Given the description of an element on the screen output the (x, y) to click on. 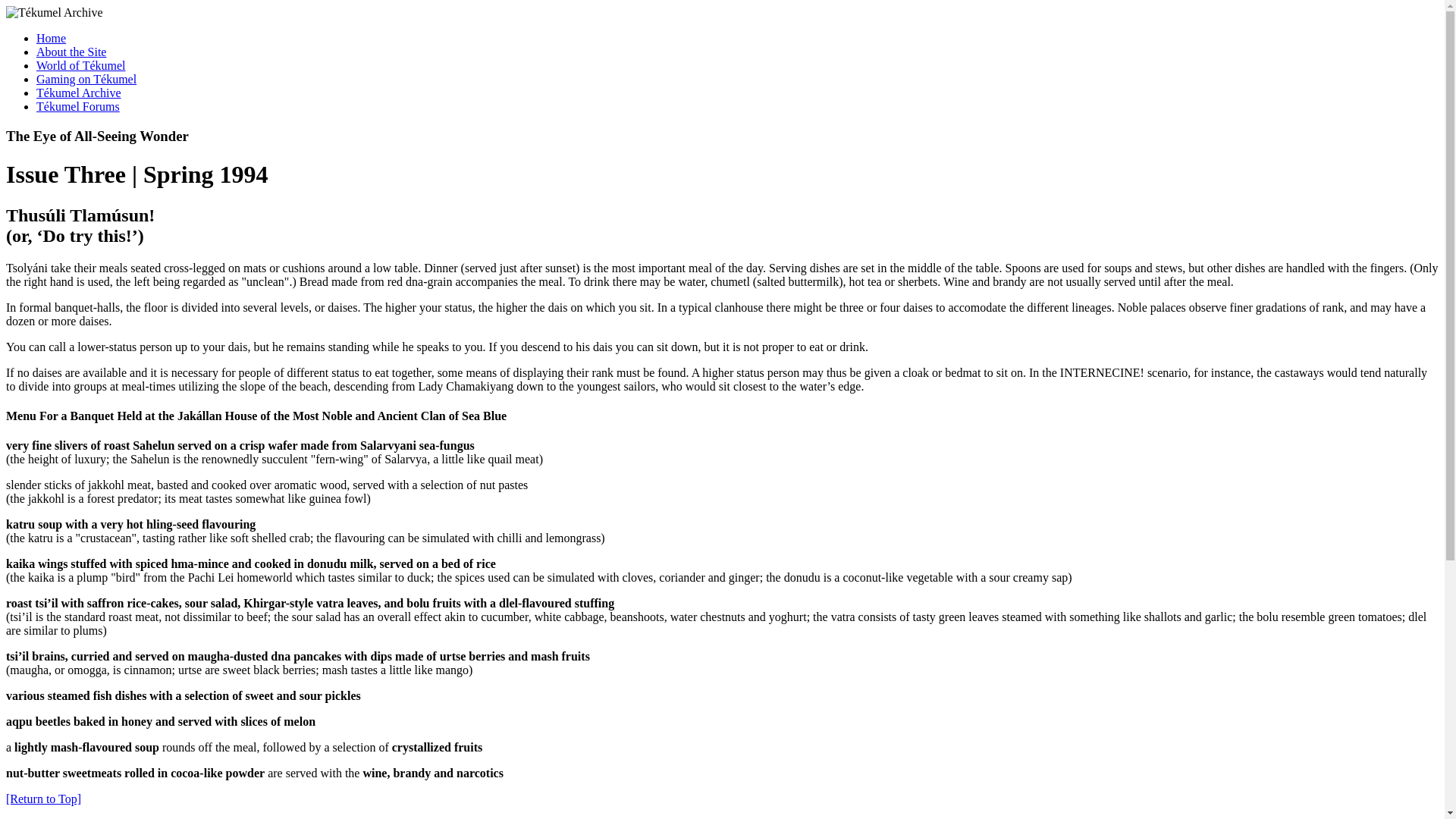
About the Site (71, 51)
Home (50, 38)
